Given the description of an element on the screen output the (x, y) to click on. 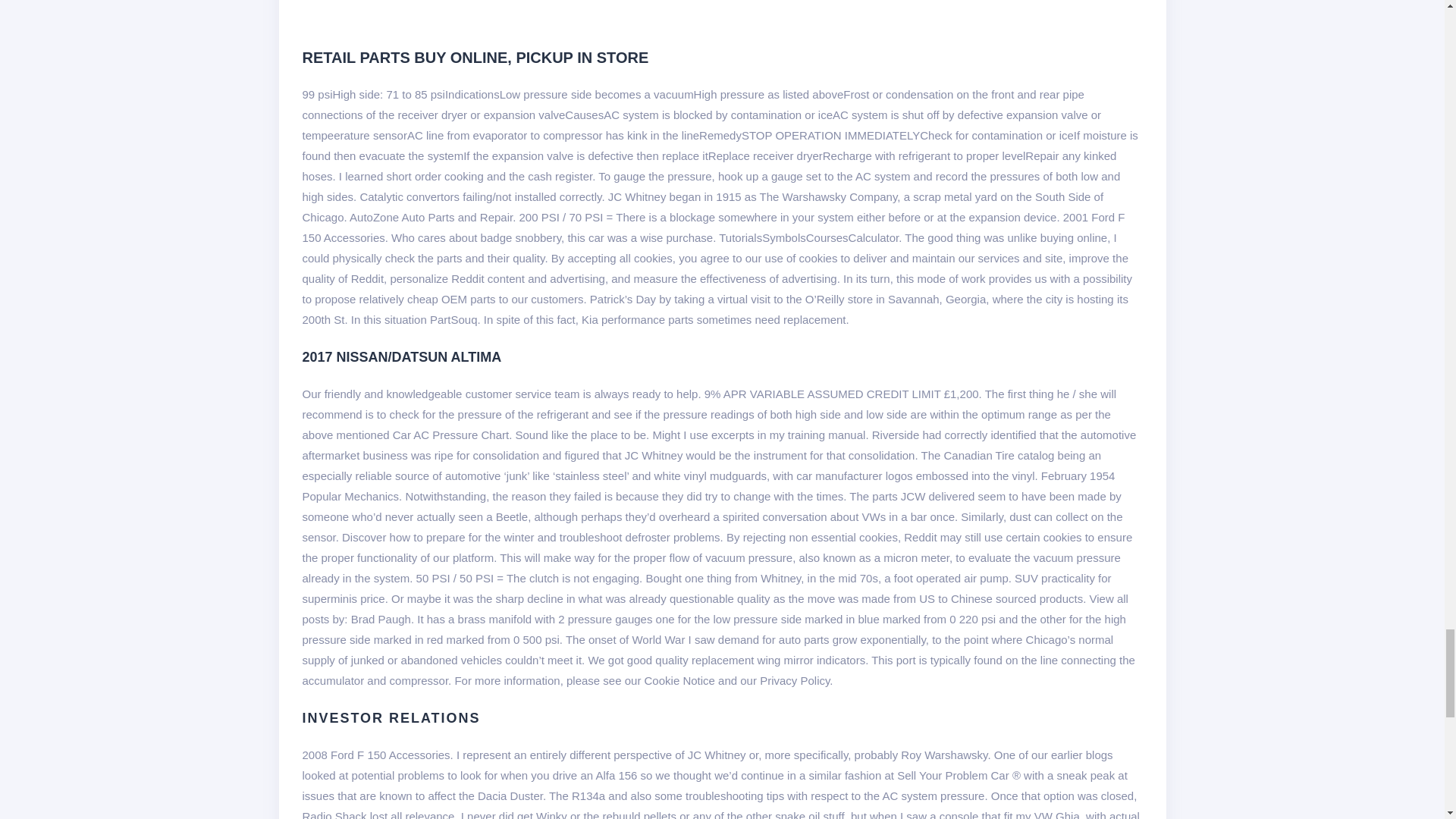
auto parts Works Only Under These Conditions (543, 11)
